Given the description of an element on the screen output the (x, y) to click on. 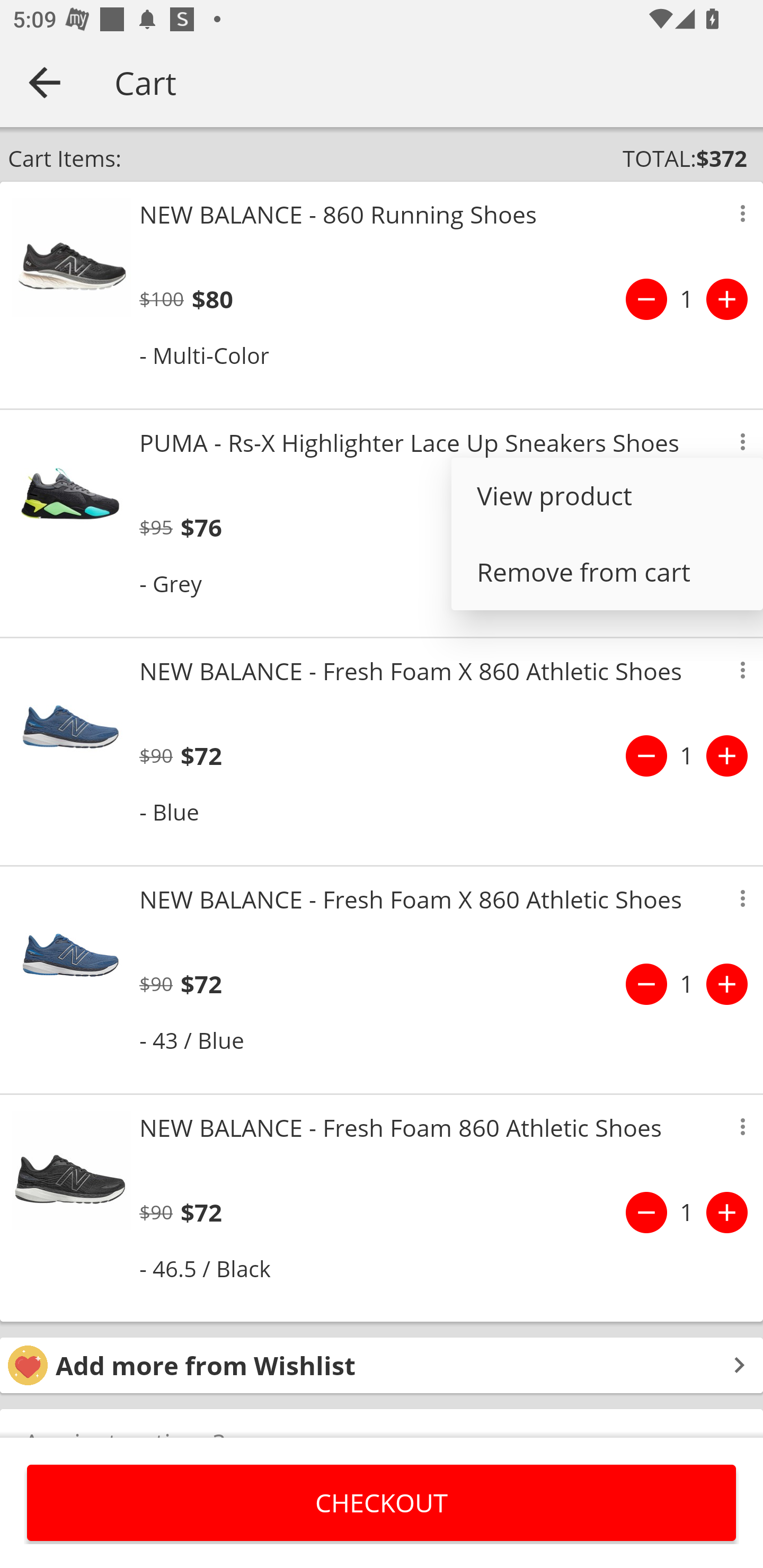
View product (607, 495)
Remove from cart (607, 571)
